Given the description of an element on the screen output the (x, y) to click on. 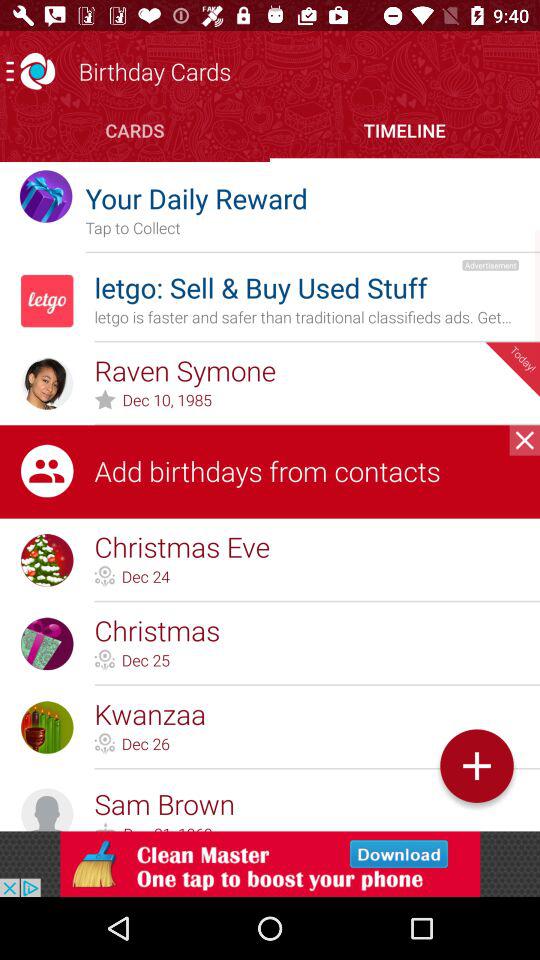
close contacts (524, 440)
